Given the description of an element on the screen output the (x, y) to click on. 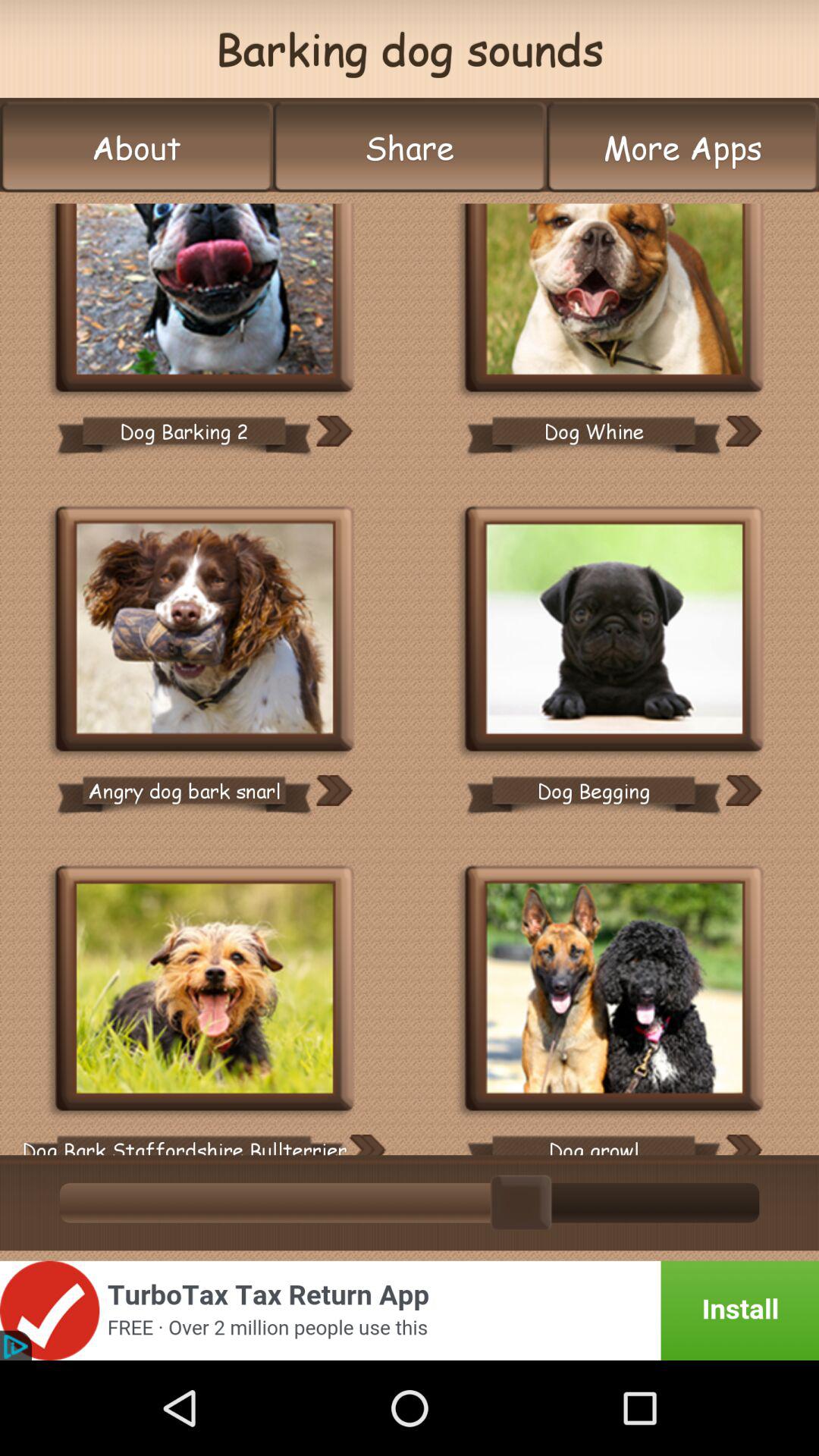
launch the more apps button (682, 147)
